Given the description of an element on the screen output the (x, y) to click on. 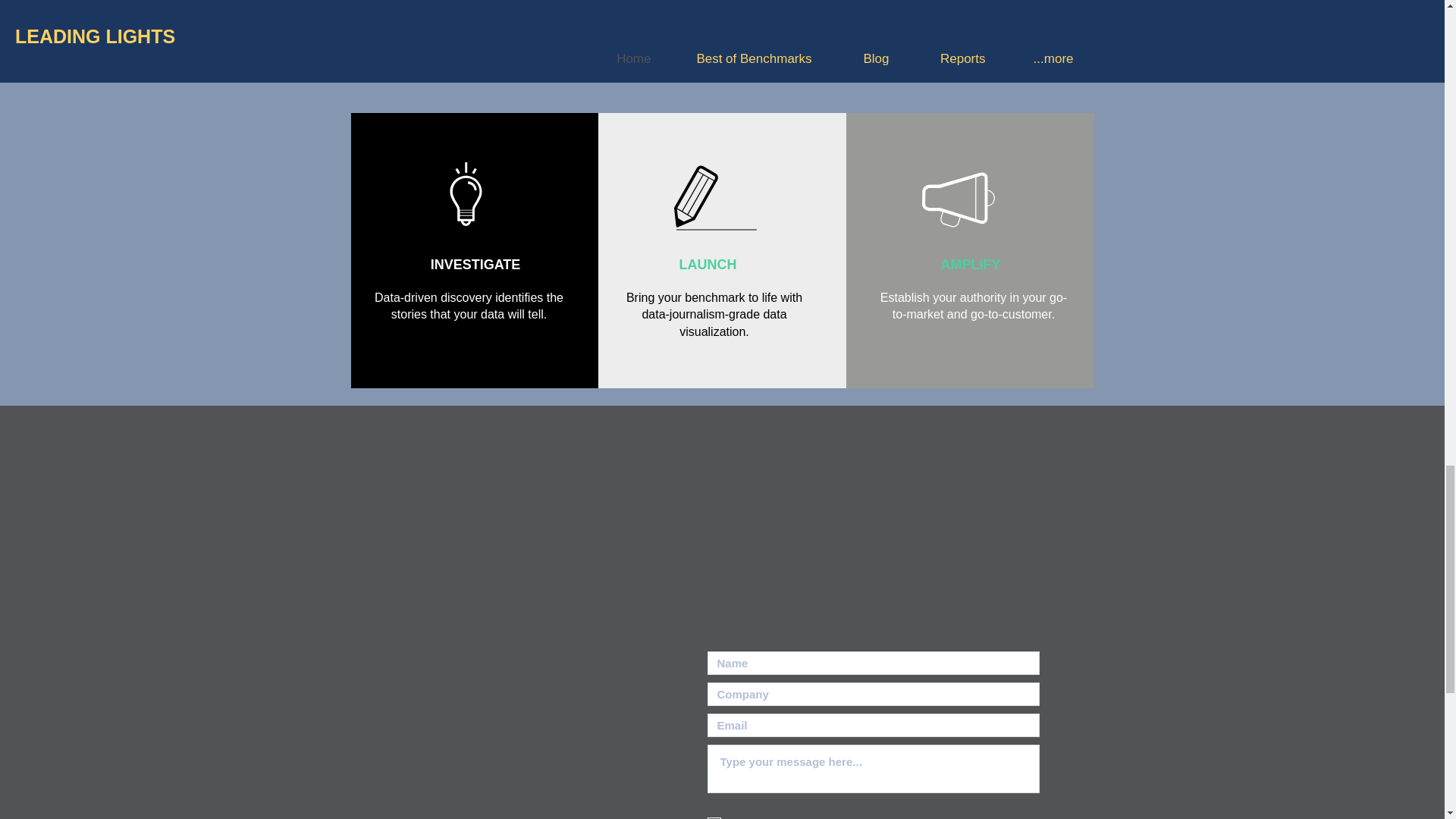
YOTTAA logo.png (614, 9)
YOTTAA logo.png (827, 3)
